Given the description of an element on the screen output the (x, y) to click on. 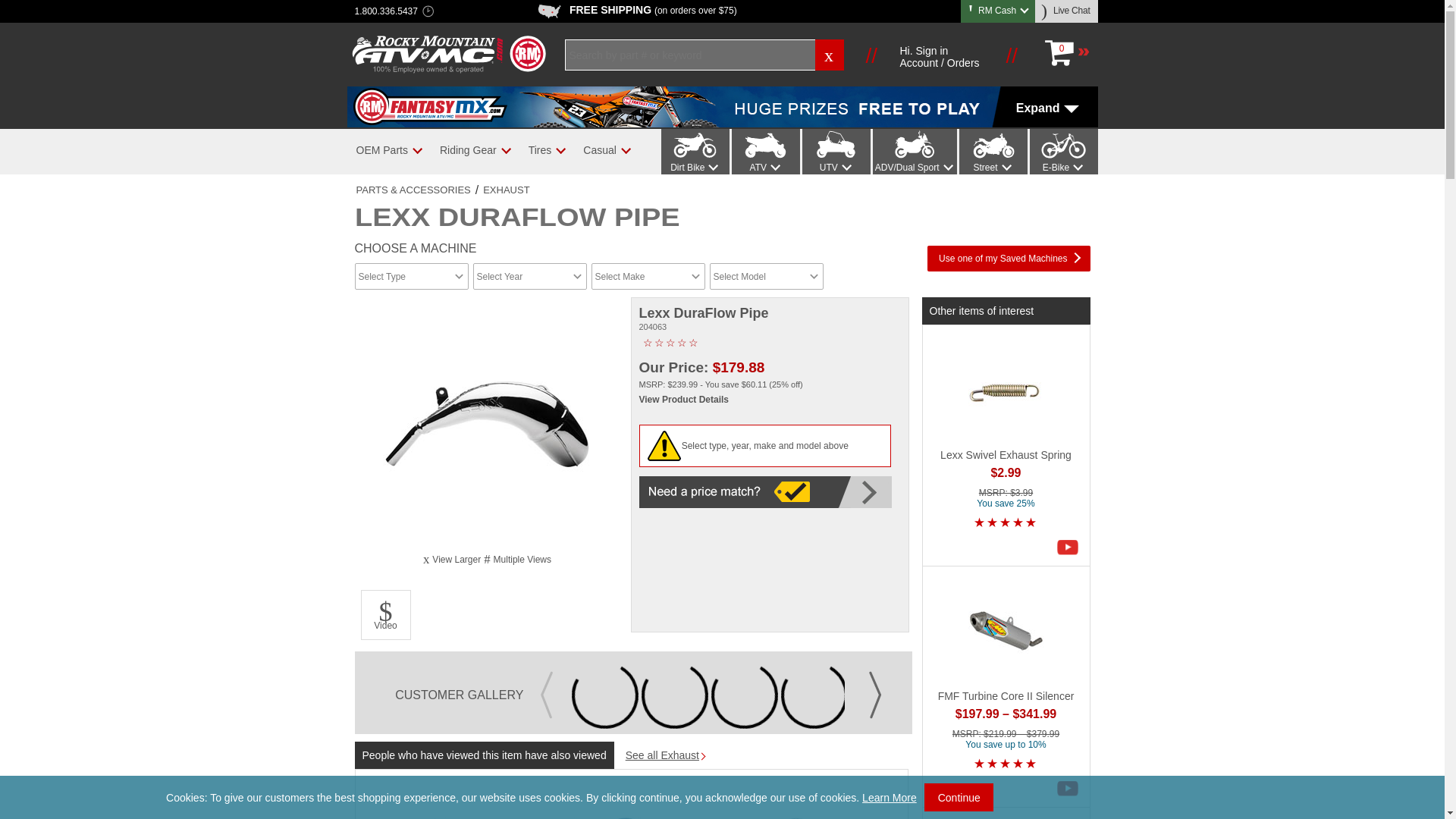
Live Chat (1067, 11)
Opens Gallery Viewer to photo submitted by David S (605, 694)
Opens Gallery Viewer to photo submitted by Alonso L (883, 694)
Opens Gallery Viewer to photo submitted by russ r (813, 694)
Select Year (529, 275)
Select Type (411, 275)
Continue (958, 796)
Expand (722, 106)
Opens Gallery Viewer to photo submitted by Erik R (674, 694)
Select Make (647, 275)
